Given the description of an element on the screen output the (x, y) to click on. 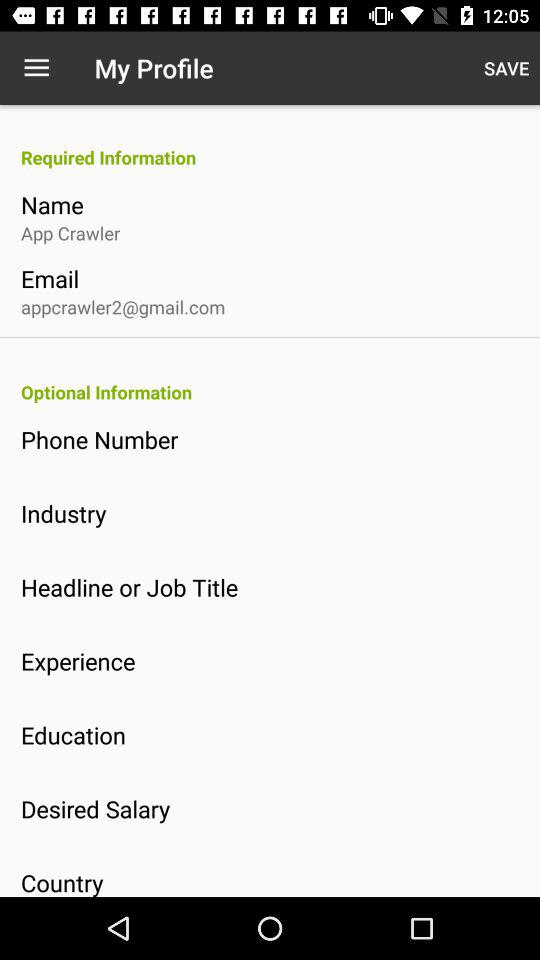
launch the icon at the top right corner (506, 67)
